Given the description of an element on the screen output the (x, y) to click on. 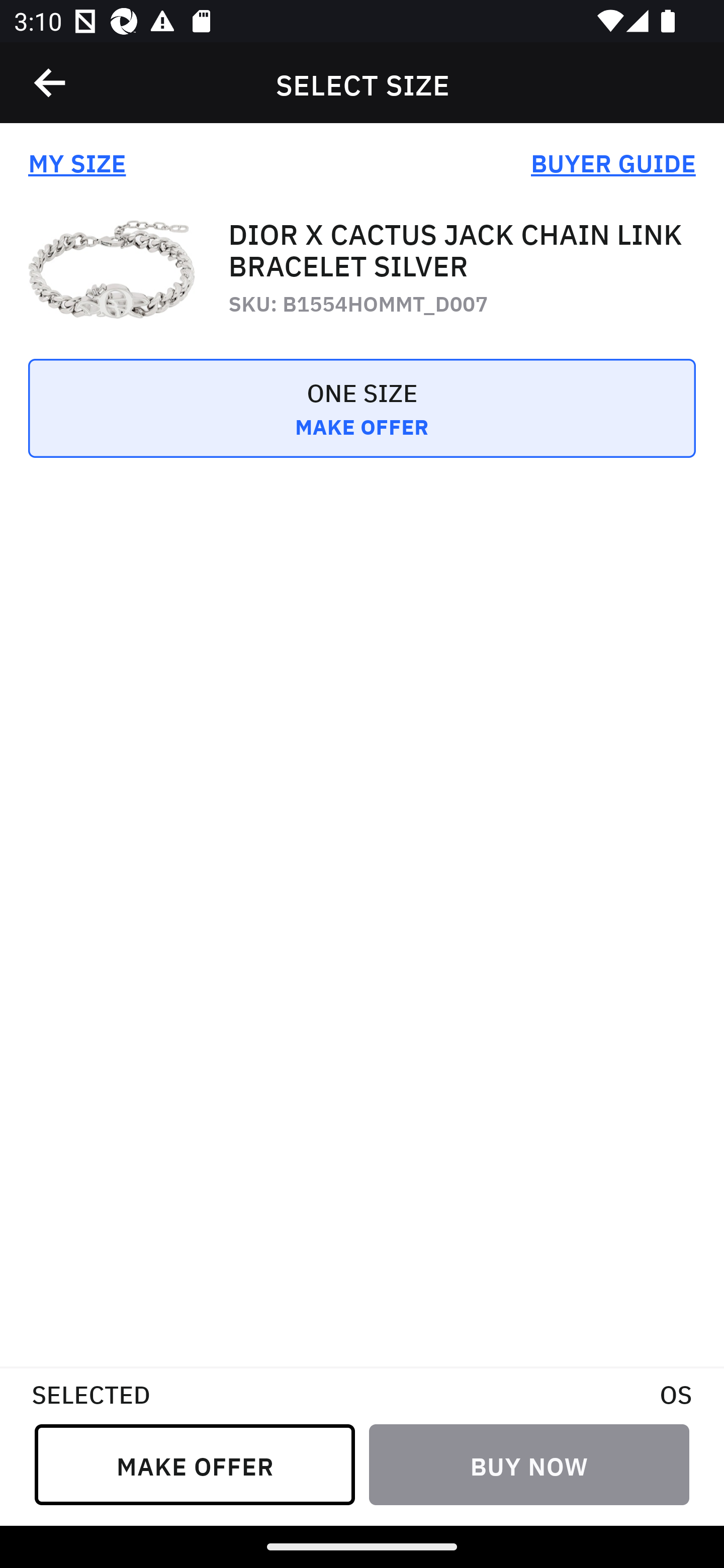
 (50, 83)
ONE SIZE MAKE OFFER (361, 422)
MAKE OFFER (194, 1464)
BUY NOW (529, 1464)
